Given the description of an element on the screen output the (x, y) to click on. 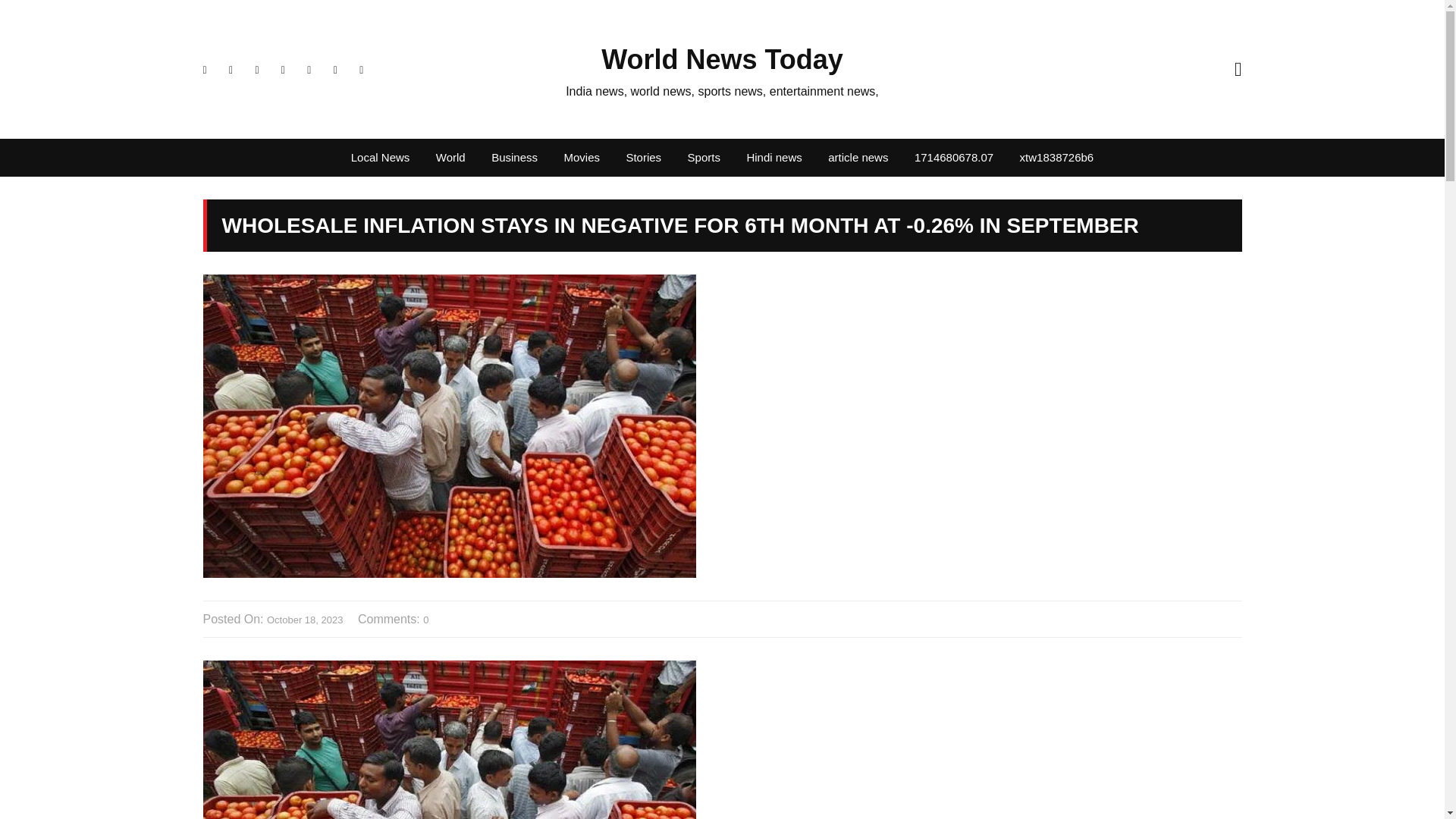
Local News (380, 157)
October 18, 2023 (304, 620)
Hindi news (773, 157)
Sports (704, 157)
Stories (643, 157)
Movies (581, 157)
World (451, 157)
article news (857, 157)
Business (514, 157)
xtw1838726b6 (1057, 157)
1714680678.07 (953, 157)
World News Today (722, 59)
